Given the description of an element on the screen output the (x, y) to click on. 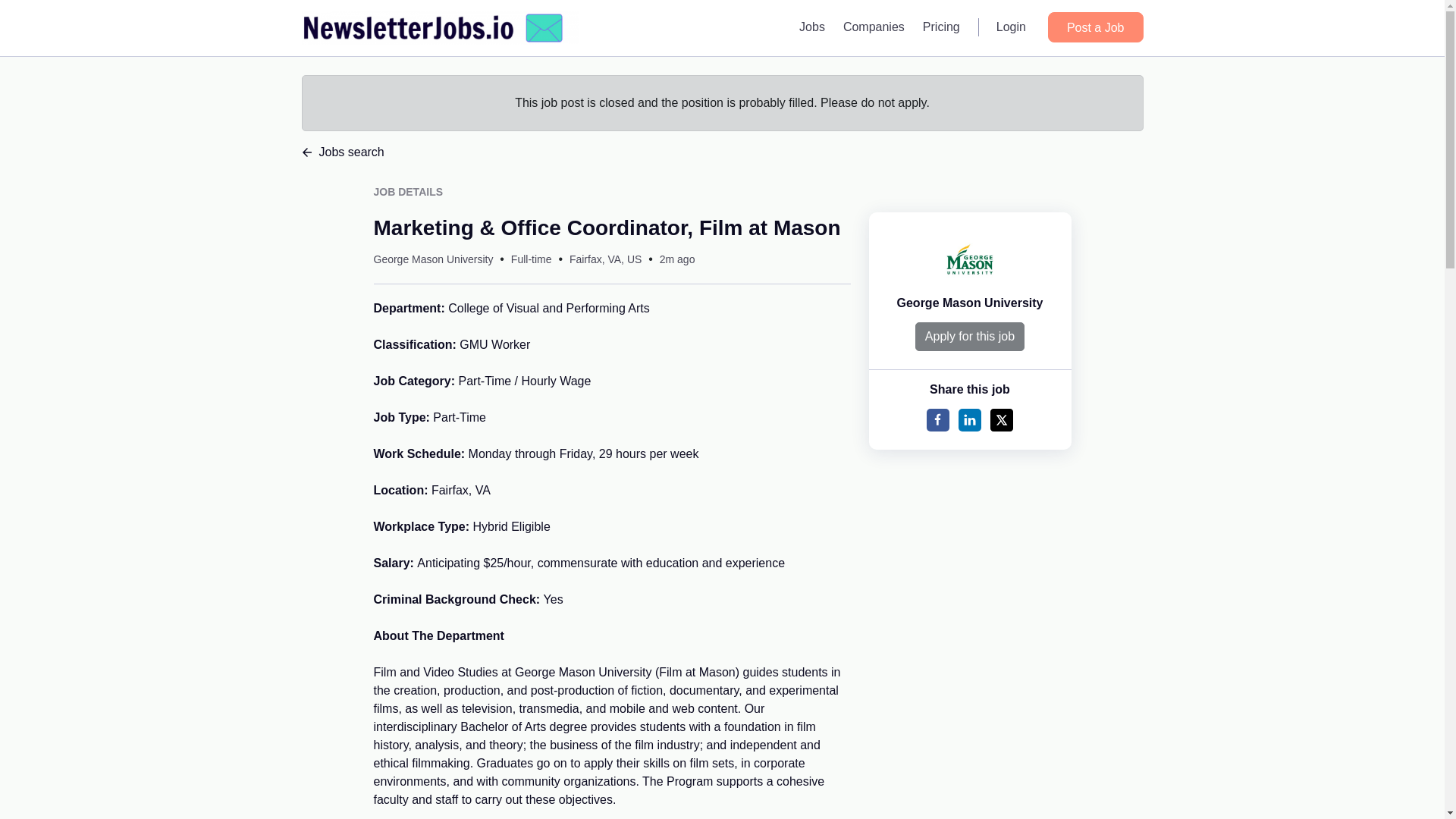
Jobs search (721, 152)
Share to FB (937, 419)
George Mason University (969, 302)
Login (1011, 26)
Full-time (531, 259)
Jobs (812, 26)
George Mason University (432, 259)
Fairfax, VA, US (605, 259)
Apply for this job (970, 336)
Pricing (941, 26)
